Given the description of an element on the screen output the (x, y) to click on. 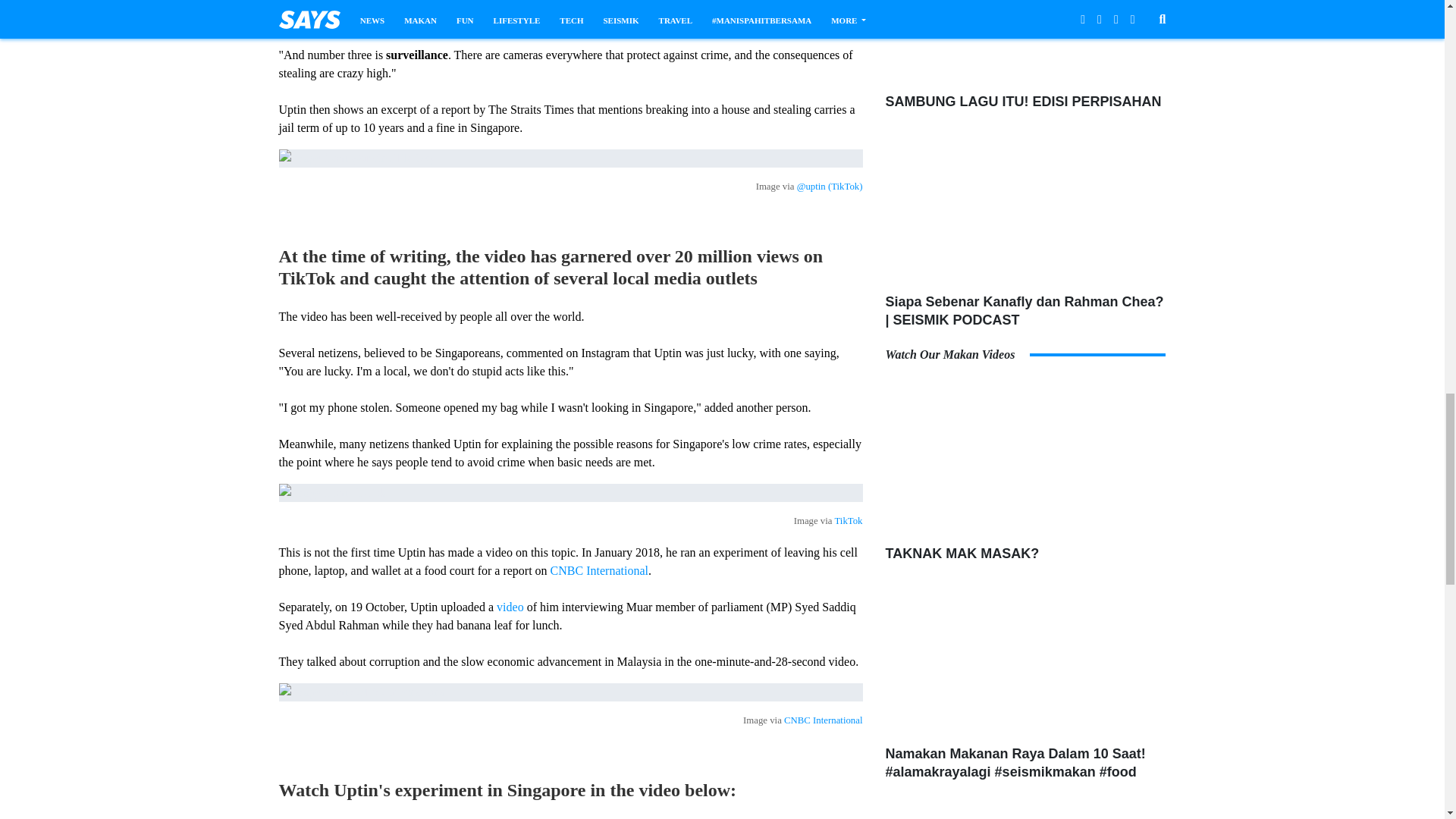
Image from TikTok (571, 493)
Image from CNBC International (571, 692)
SAMBUNG LAGU ITU! EDISI PERPISAHAN (1025, 43)
TAKNAK MAK MASAK? (1025, 459)
